Given the description of an element on the screen output the (x, y) to click on. 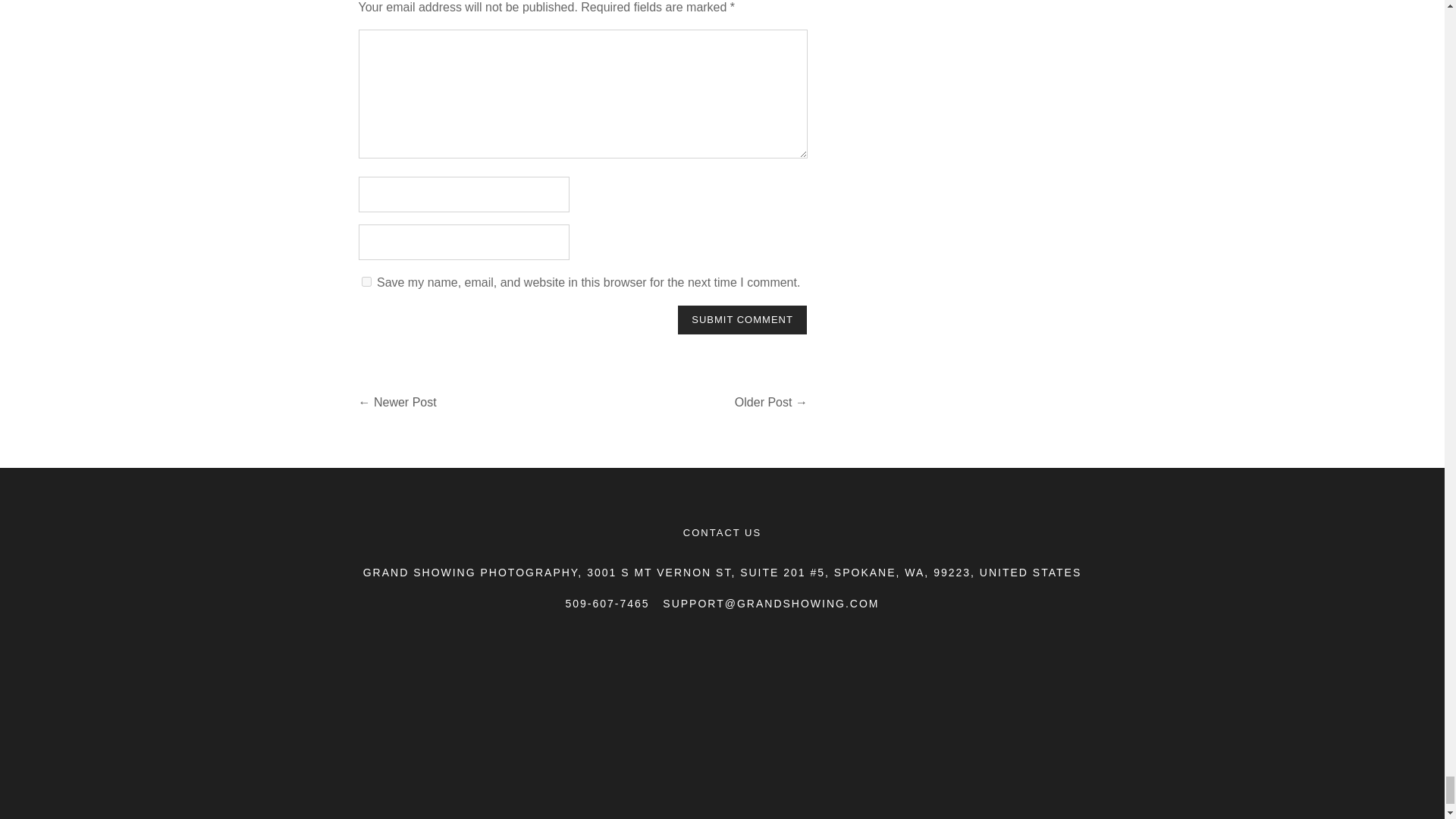
business location (722, 734)
yes (366, 281)
SUBMIT COMMENT (742, 319)
